Given the description of an element on the screen output the (x, y) to click on. 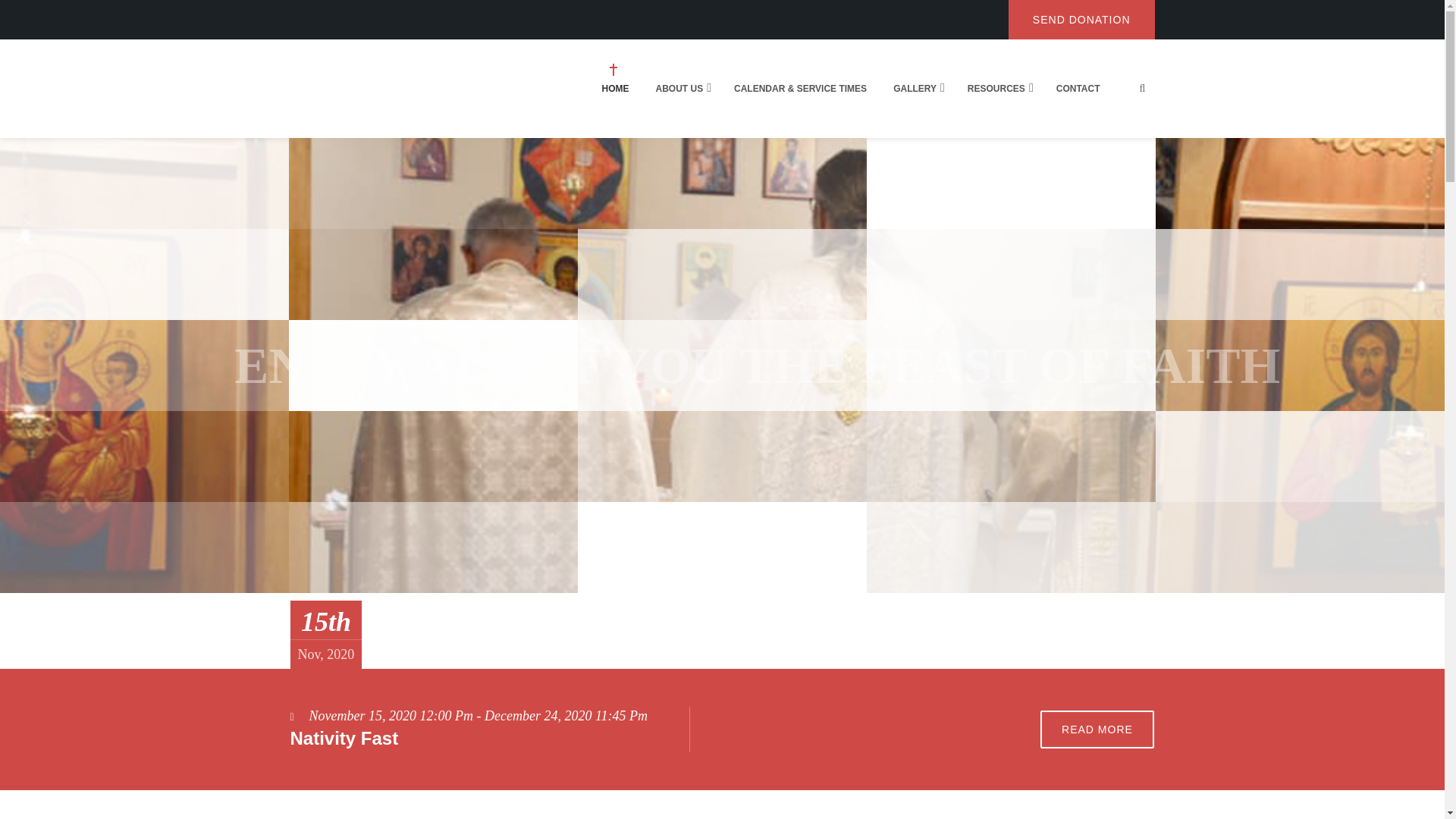
READ MORE (1097, 729)
Send Donation (1081, 19)
Nativity Fast (343, 738)
